Given the description of an element on the screen output the (x, y) to click on. 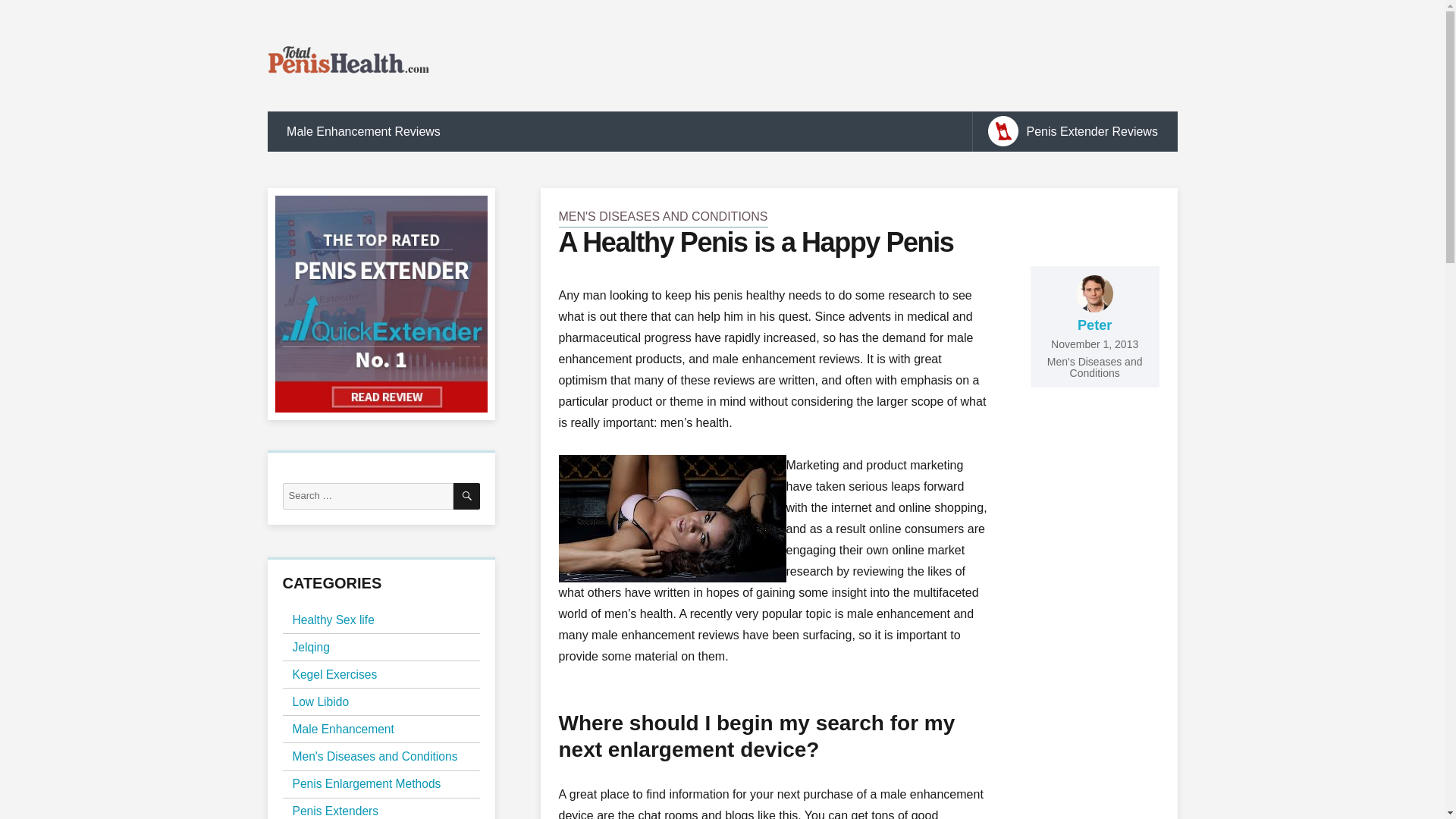
Male Enhancement (343, 729)
November 1, 2013 (1094, 344)
Penis Extender Reviews (1074, 131)
Low Libido (320, 701)
Men's Diseases and Conditions (375, 756)
Total Penis Health (380, 302)
Penis Extenders (335, 809)
Men's Diseases and Conditions (1094, 367)
Kegel Exercises (334, 674)
Penis Enlargement Methods (366, 783)
Peter (1094, 324)
SEARCH (466, 496)
